Given the description of an element on the screen output the (x, y) to click on. 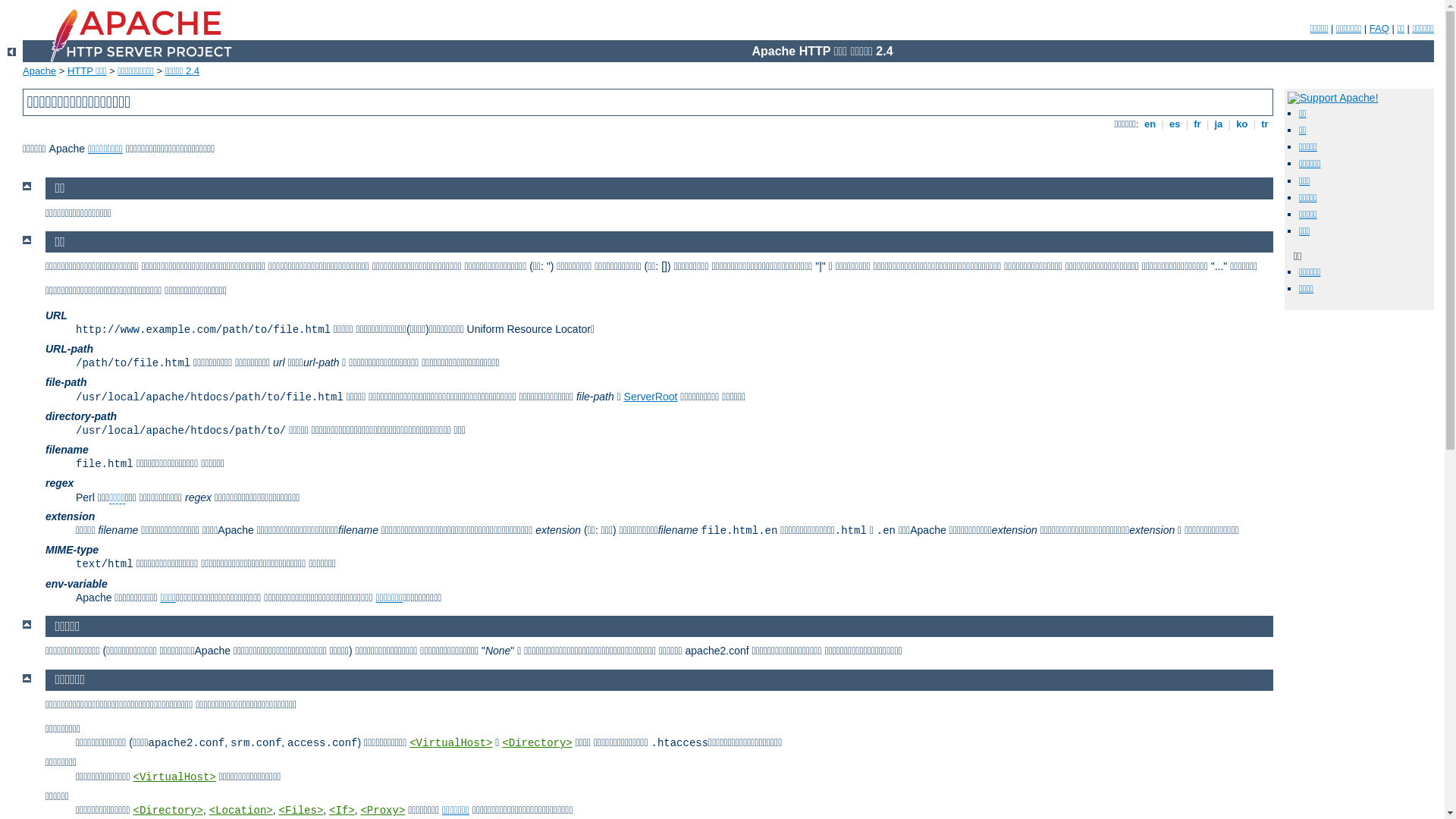
<VirtualHost> Element type: text (450, 743)
 ja  Element type: text (1218, 123)
Apache Element type: text (39, 70)
 en  Element type: text (1149, 123)
<Directory> Element type: text (536, 743)
<Location> Element type: text (241, 810)
<Directory> Element type: text (167, 810)
 fr  Element type: text (1197, 123)
 ko  Element type: text (1241, 123)
<VirtualHost> Element type: text (173, 777)
FAQ Element type: text (1379, 28)
 tr  Element type: text (1264, 123)
ServerRoot Element type: text (650, 396)
<If> Element type: text (341, 810)
<Files> Element type: text (300, 810)
<- Element type: hover (11, 51)
 es  Element type: text (1174, 123)
<Proxy> Element type: text (382, 810)
